Given the description of an element on the screen output the (x, y) to click on. 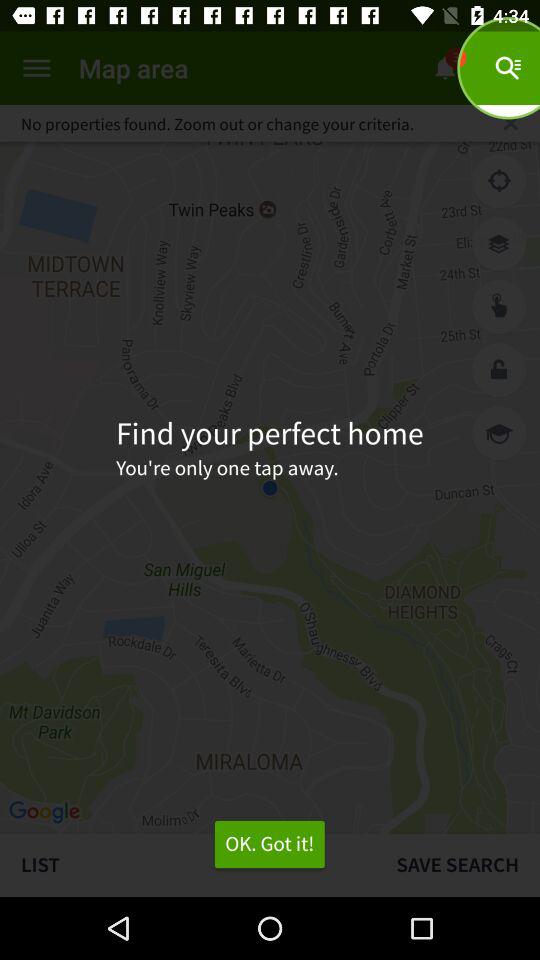
press item to the left of save search item (269, 844)
